Given the description of an element on the screen output the (x, y) to click on. 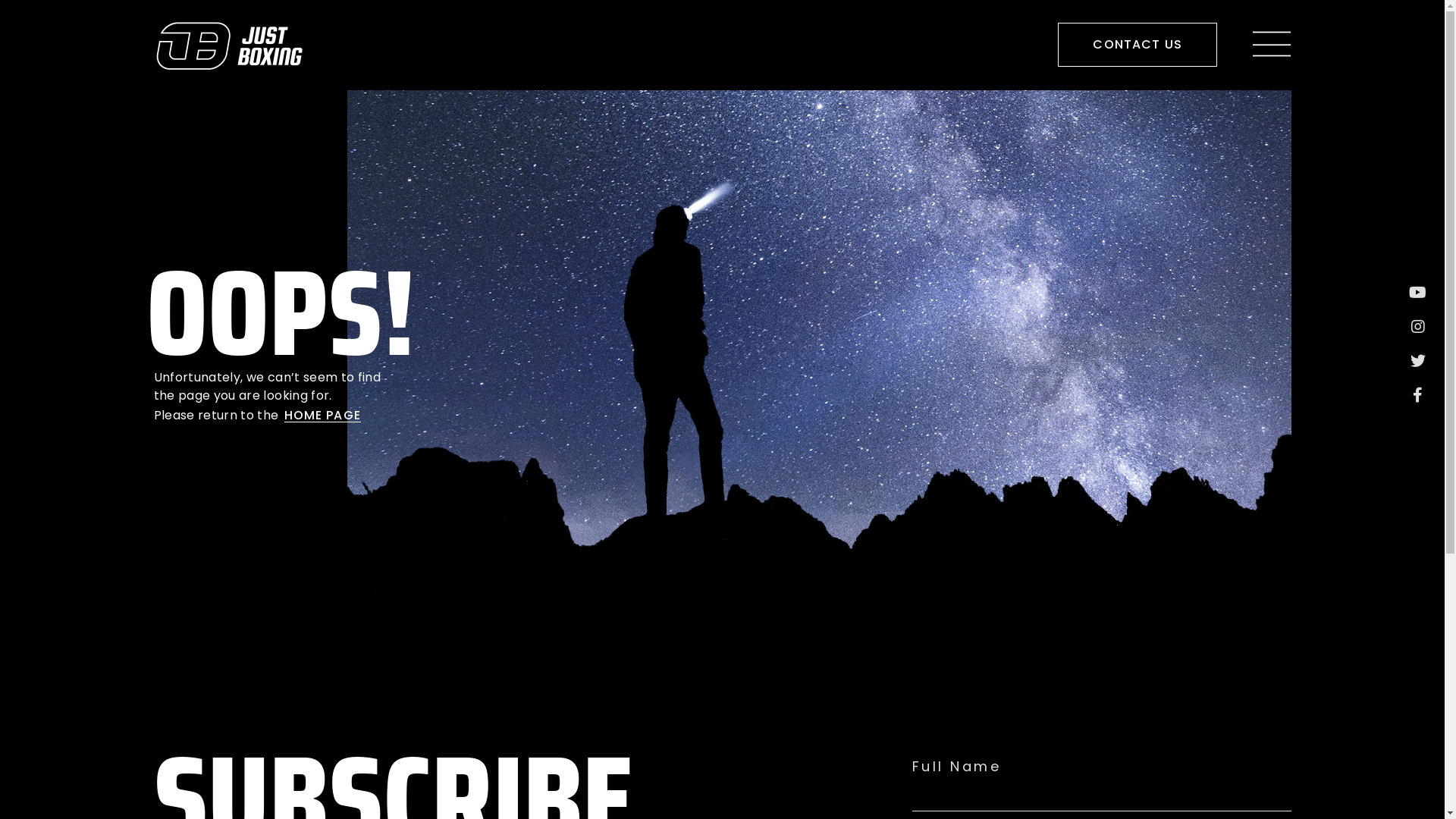
CONTACT US Element type: text (1137, 44)
HOME PAGE Element type: text (321, 415)
